Given the description of an element on the screen output the (x, y) to click on. 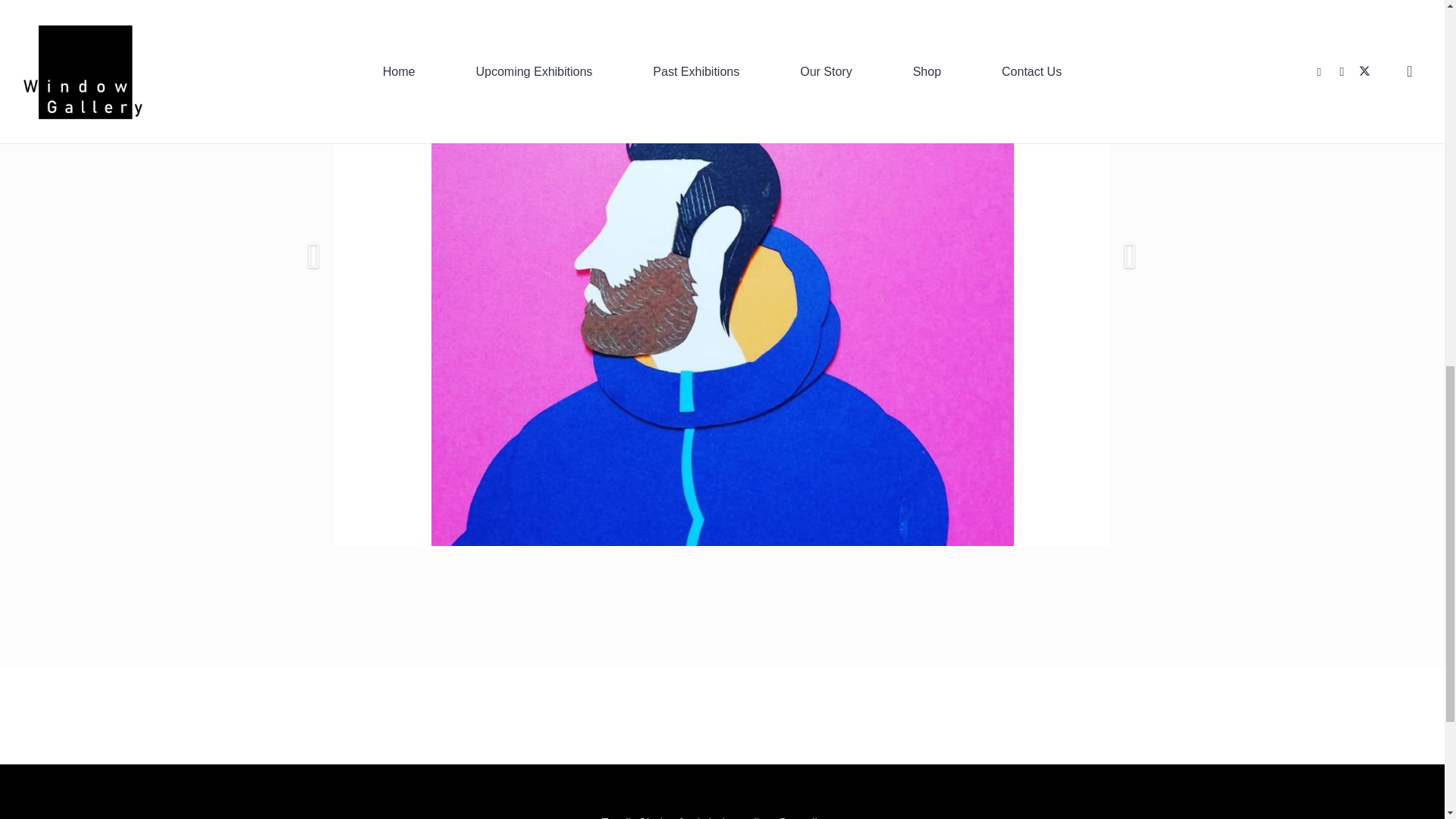
Back to top (1413, 26)
